Given the description of an element on the screen output the (x, y) to click on. 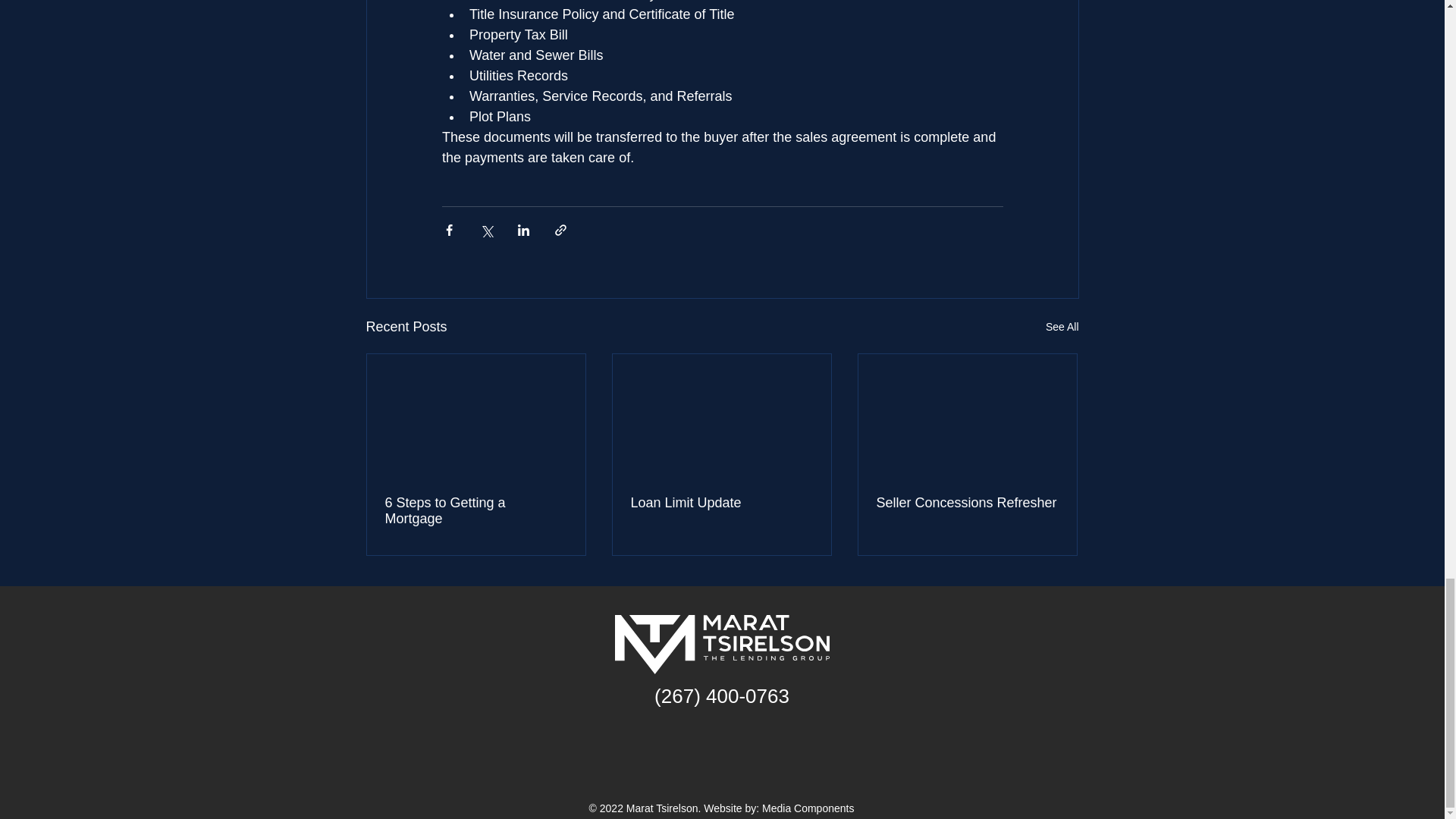
Loan Limit Update (721, 503)
Media Components (807, 808)
See All (1061, 327)
6 Steps to Getting a Mortgage (476, 511)
Seller Concessions Refresher (967, 503)
